Given the description of an element on the screen output the (x, y) to click on. 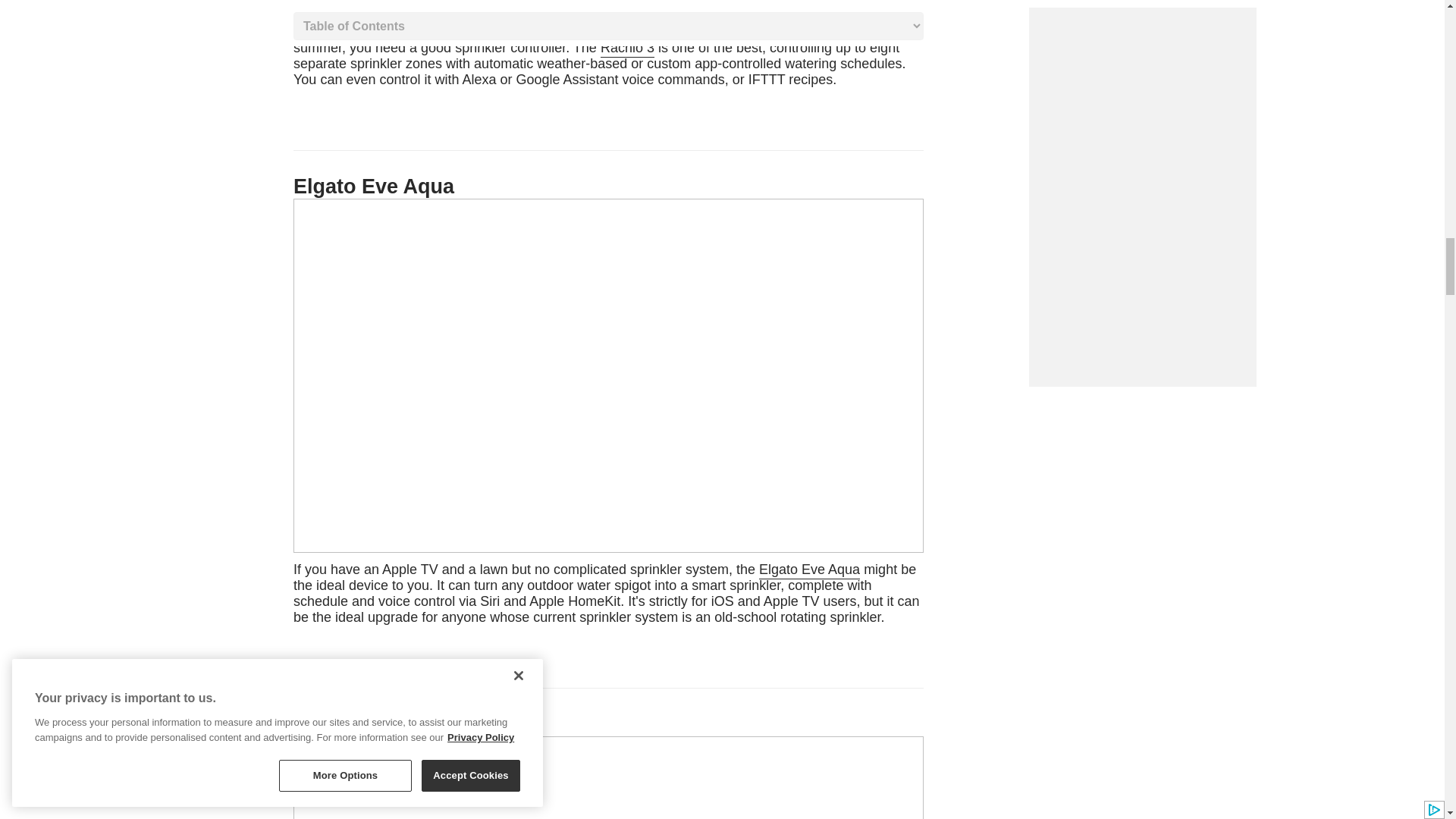
Buy It Now (607, 592)
Buy It Now (599, 55)
